Given the description of an element on the screen output the (x, y) to click on. 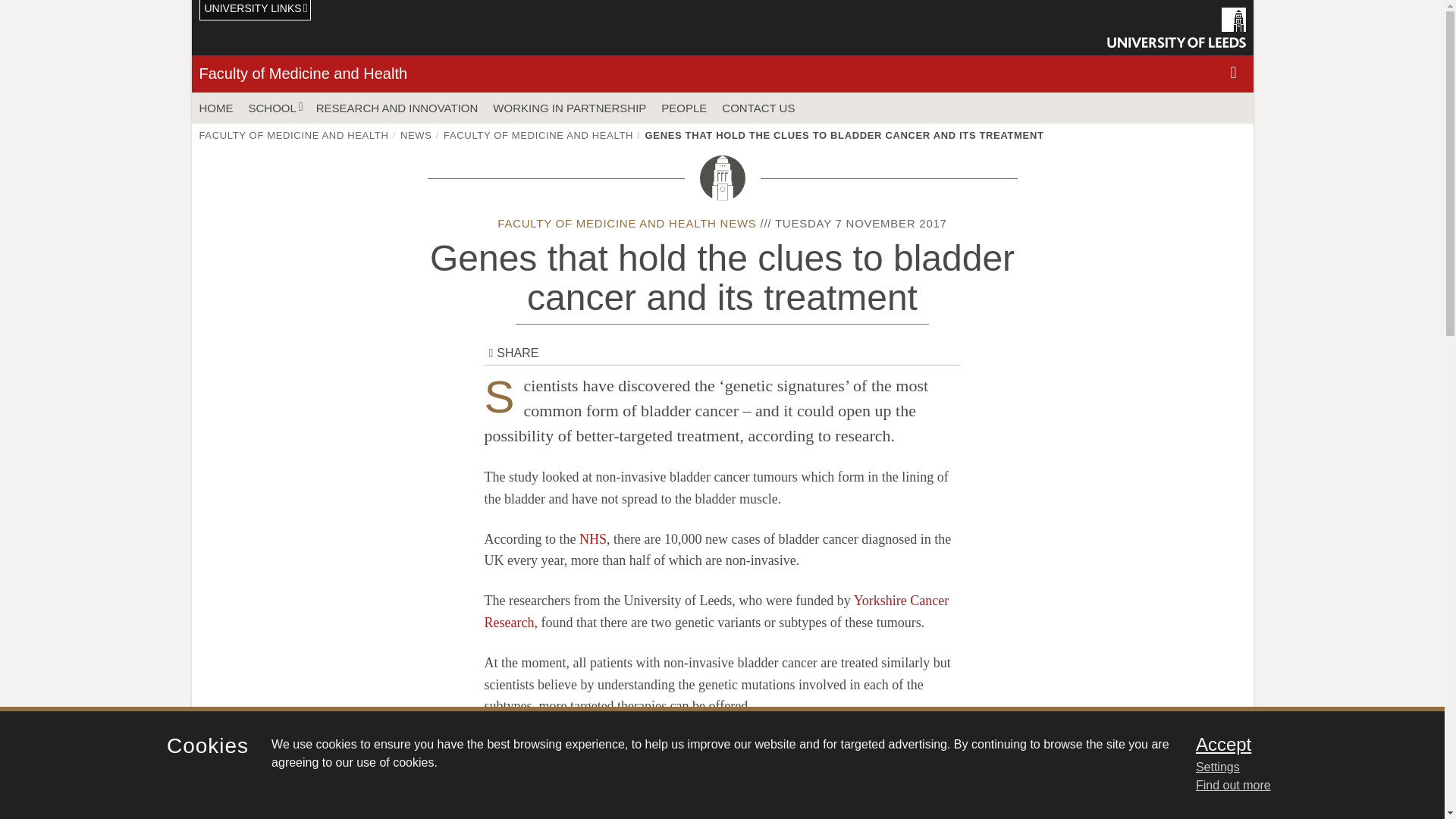
University of Leeds homepage (1176, 27)
UNIVERSITY LINKS (254, 10)
Accept (1300, 744)
Settings (1300, 767)
Find out more (1233, 784)
